Given the description of an element on the screen output the (x, y) to click on. 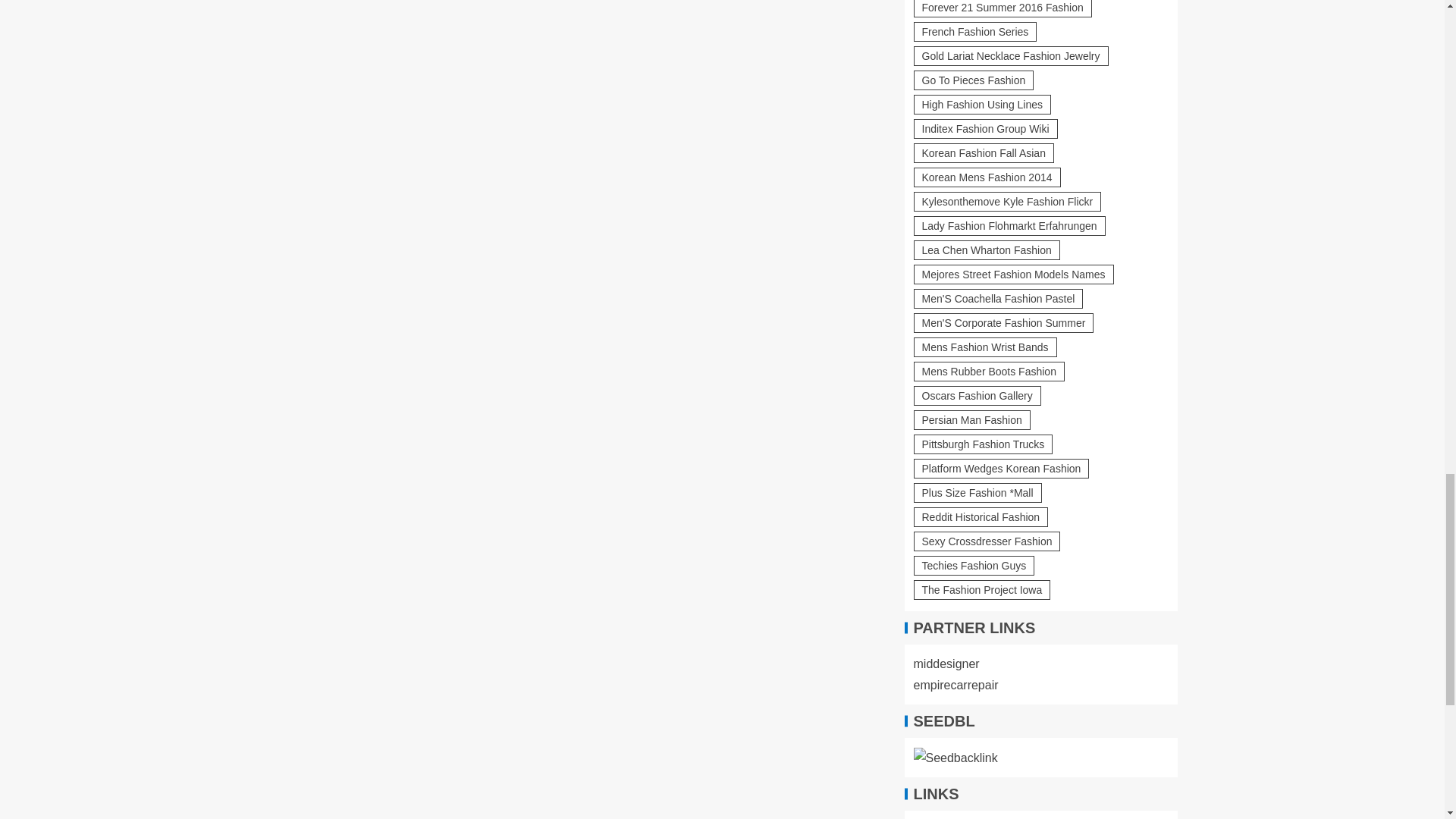
Seedbacklink (954, 757)
